Given the description of an element on the screen output the (x, y) to click on. 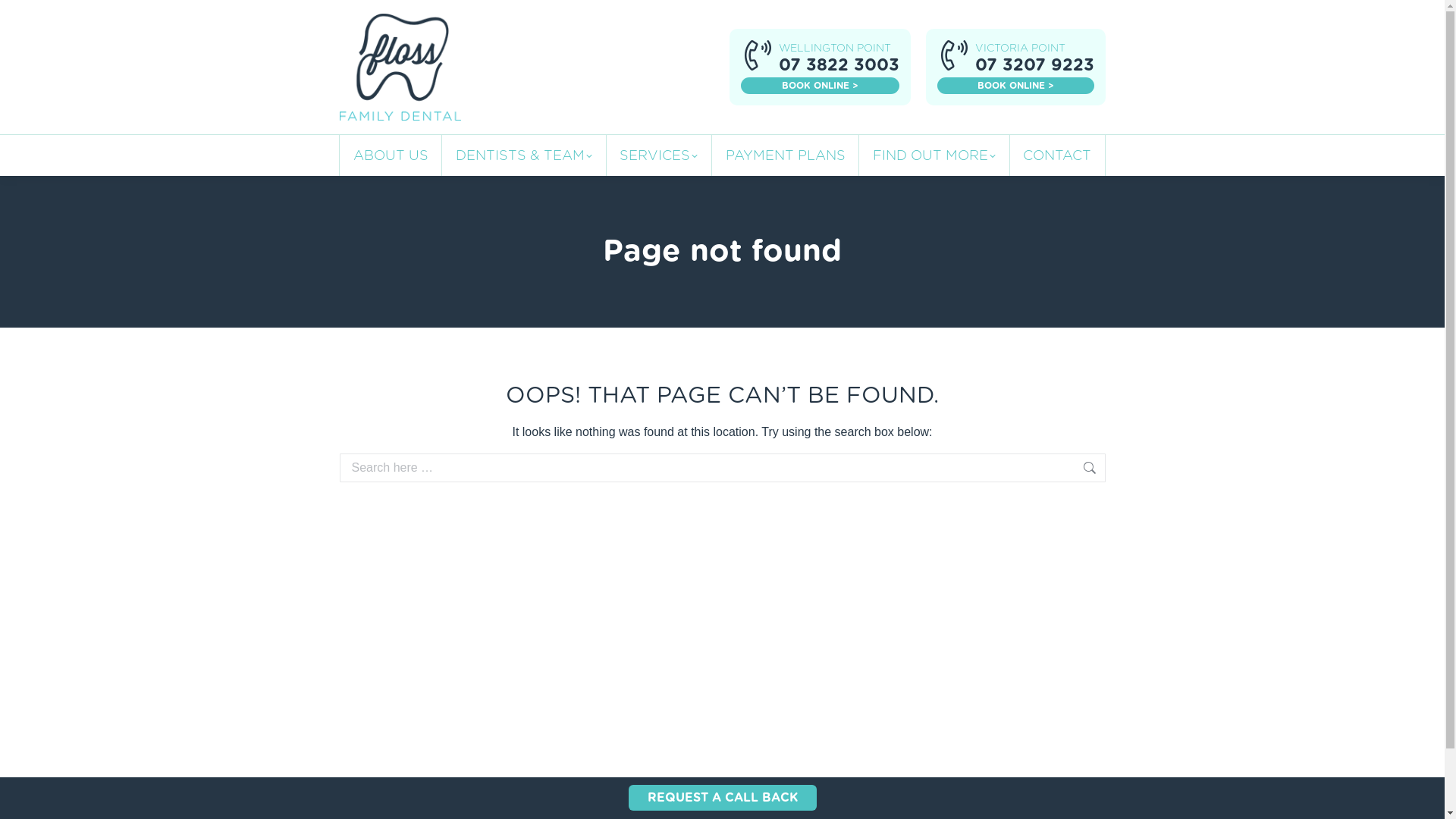
DENTISTS & TEAM Element type: text (523, 154)
SERVICES Element type: text (658, 154)
CONTACT Element type: text (1056, 154)
PAYMENT PLANS Element type: text (784, 154)
BOOK ONLINE > Element type: text (819, 85)
REQUEST A CALL BACK Element type: text (721, 797)
07 3822 3003 Element type: text (838, 64)
Go! Element type: text (1137, 468)
FIND OUT MORE Element type: text (934, 154)
ABOUT US Element type: text (390, 154)
BOOK ONLINE > Element type: text (1015, 85)
07 3207 9223 Element type: text (1034, 64)
